Given the description of an element on the screen output the (x, y) to click on. 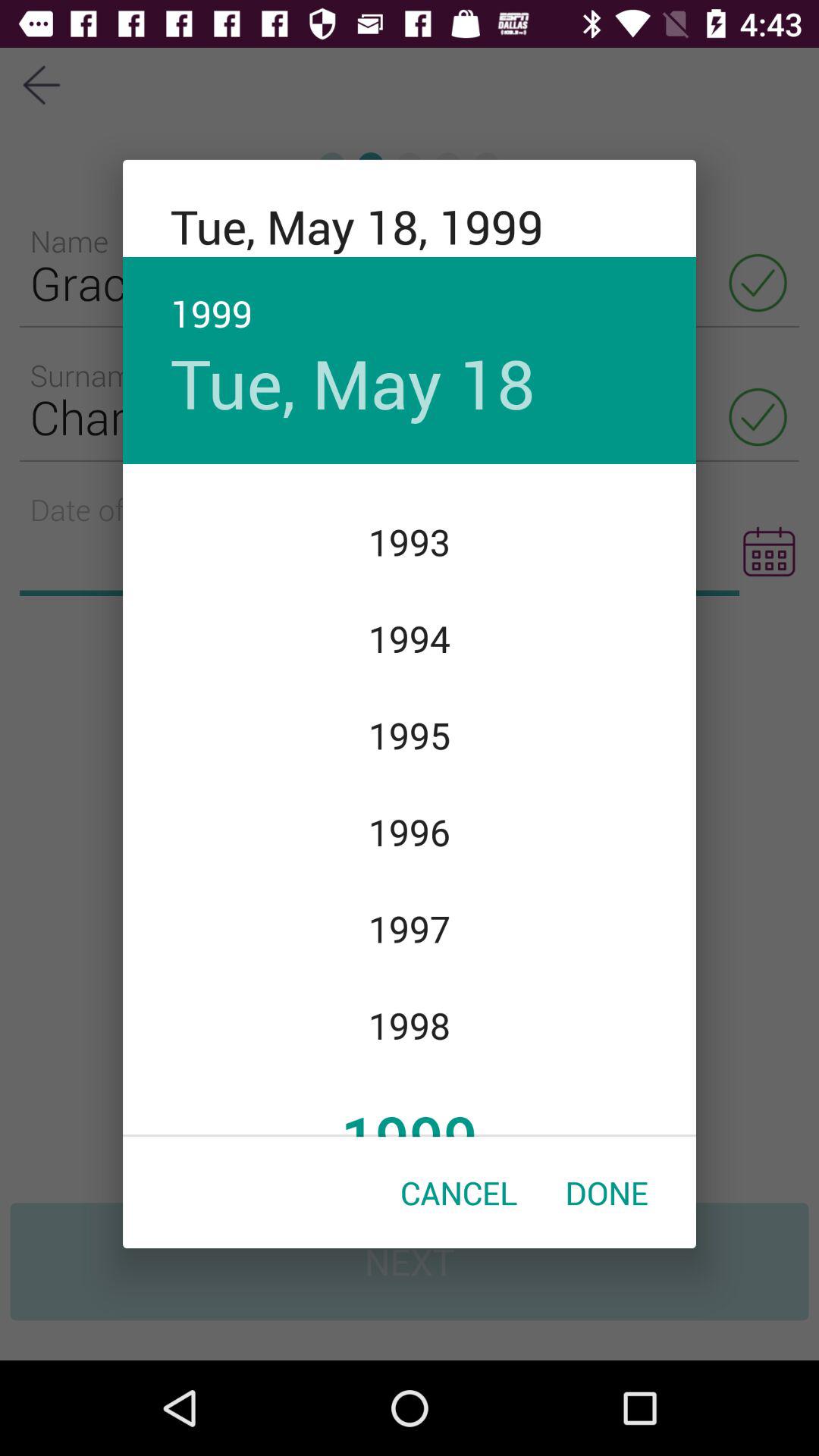
turn on the item next to done item (458, 1192)
